Given the description of an element on the screen output the (x, y) to click on. 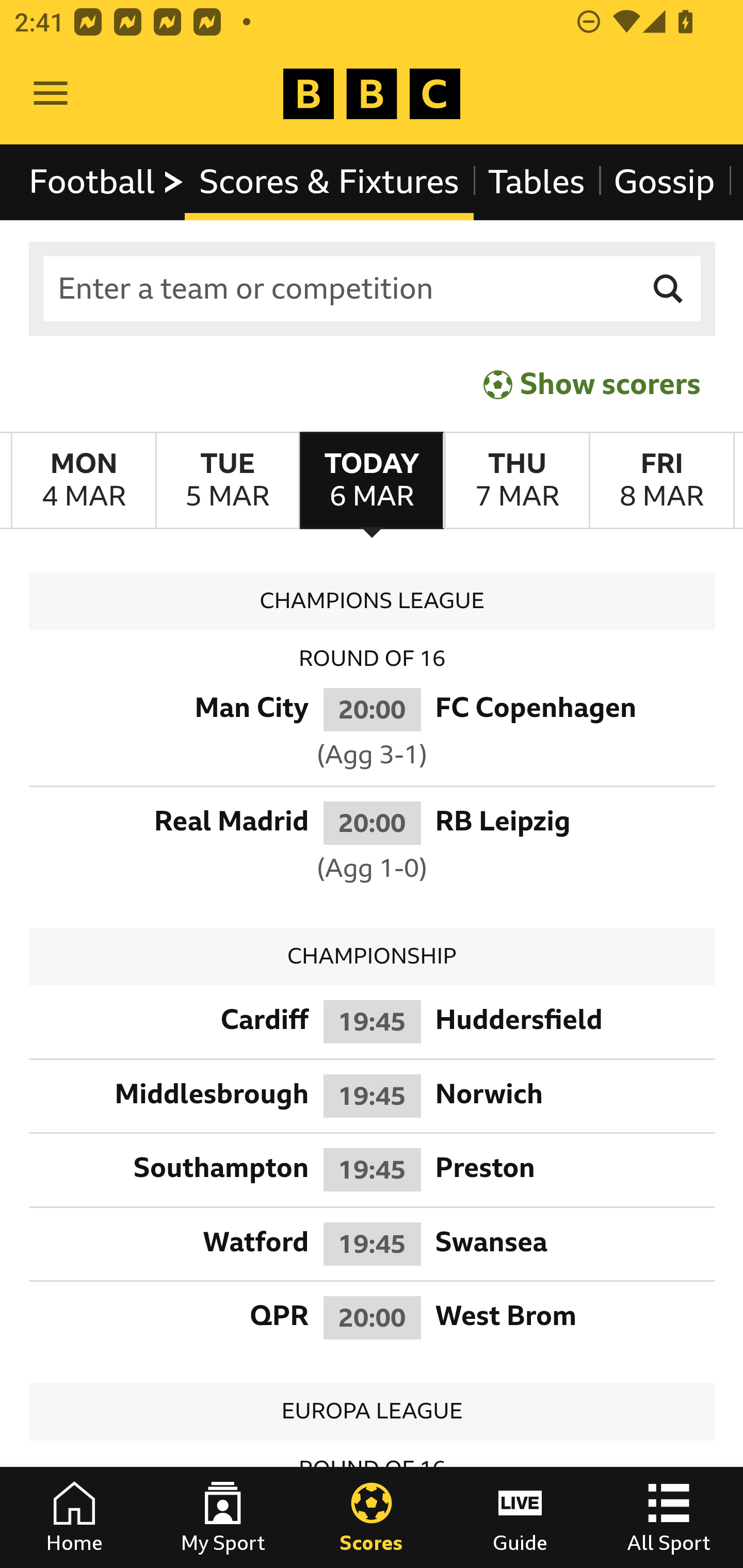
Open Menu (50, 93)
Football  (106, 181)
Scores & Fixtures (329, 181)
Tables (536, 181)
Gossip (664, 181)
Search (669, 289)
Show scorers (591, 383)
MondayMarch 4th Monday March 4th (83, 480)
TuesdayMarch 5th Tuesday March 5th (227, 480)
ThursdayMarch 7th Thursday March 7th (516, 480)
FridayMarch 8th Friday March 8th (661, 480)
Home (74, 1517)
My Sport (222, 1517)
Guide (519, 1517)
All Sport (668, 1517)
